Given the description of an element on the screen output the (x, y) to click on. 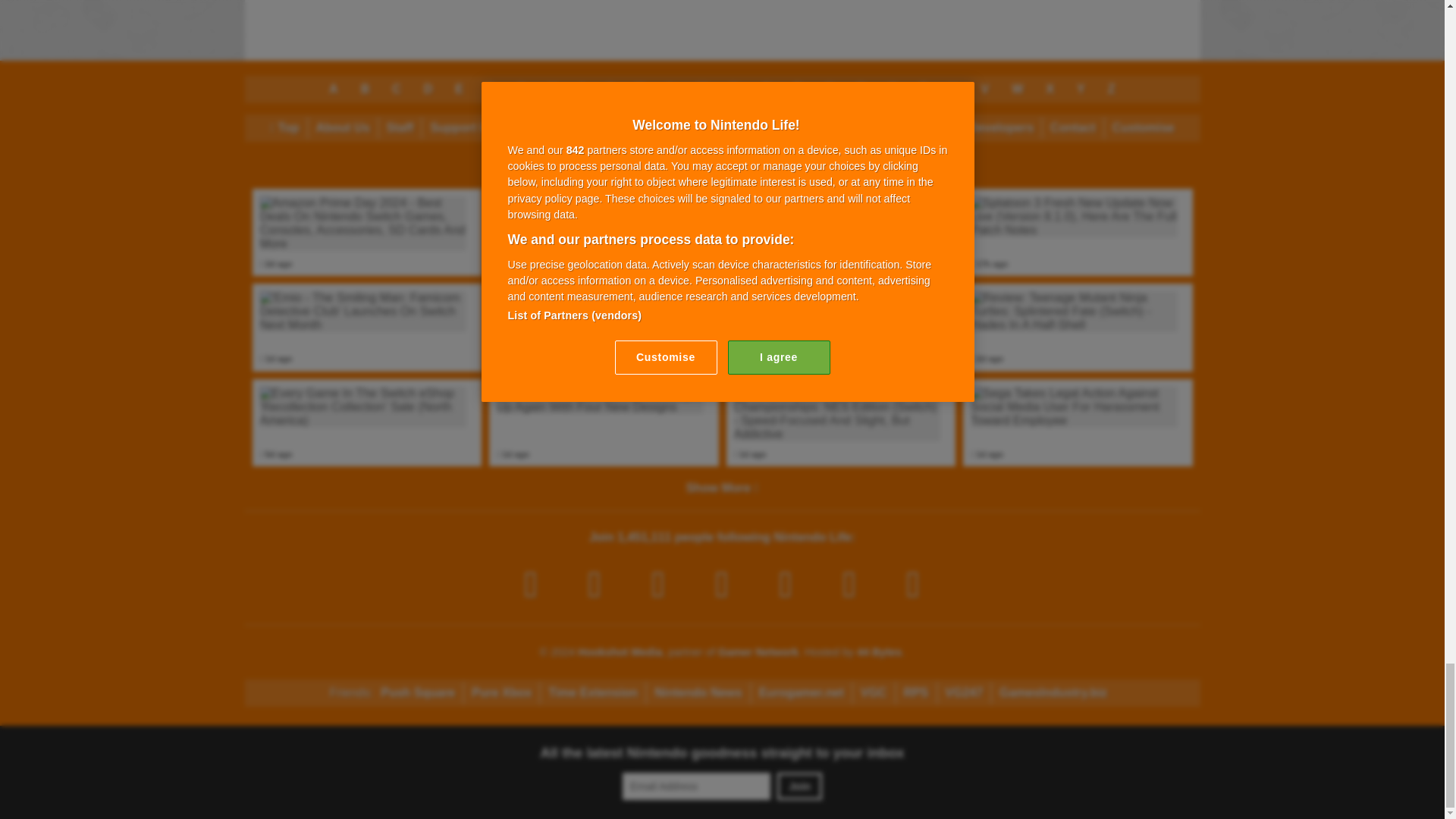
Join (799, 786)
